Given the description of an element on the screen output the (x, y) to click on. 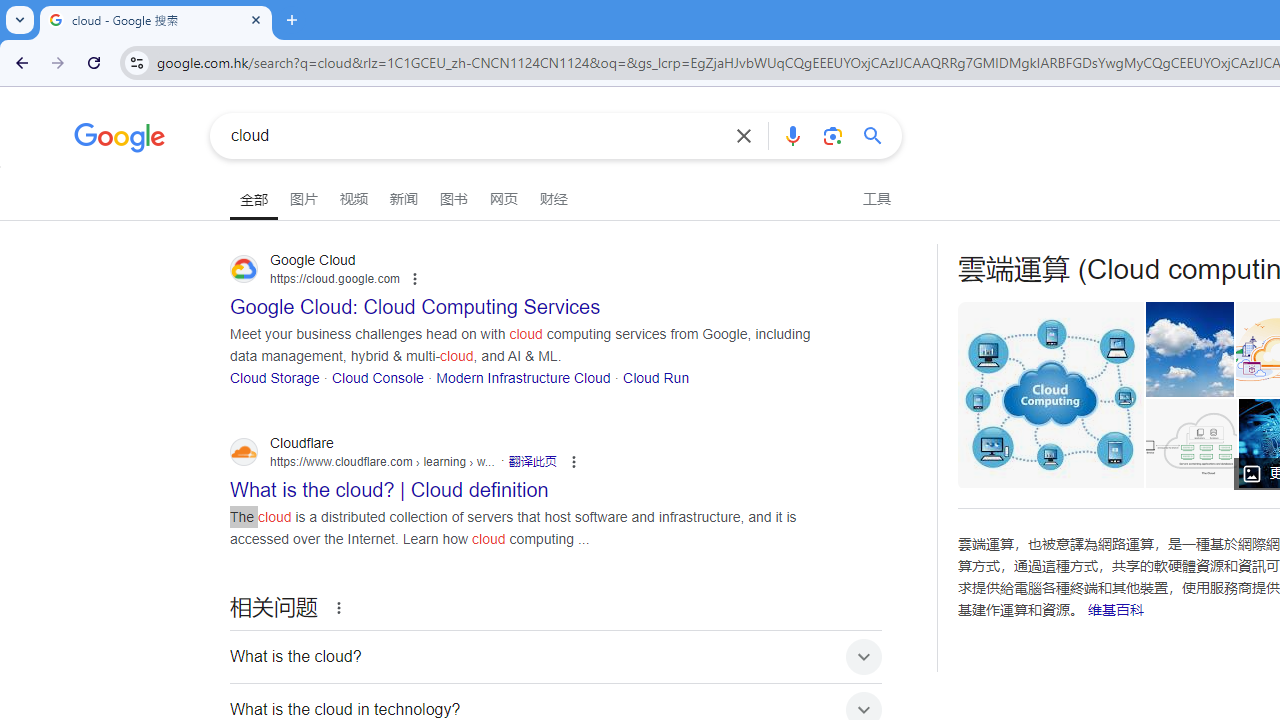
Cloud Run (656, 376)
What is the cloud? | Cloud definition | Cloudflare (1196, 443)
What is the cloud? (555, 656)
